Given the description of an element on the screen output the (x, y) to click on. 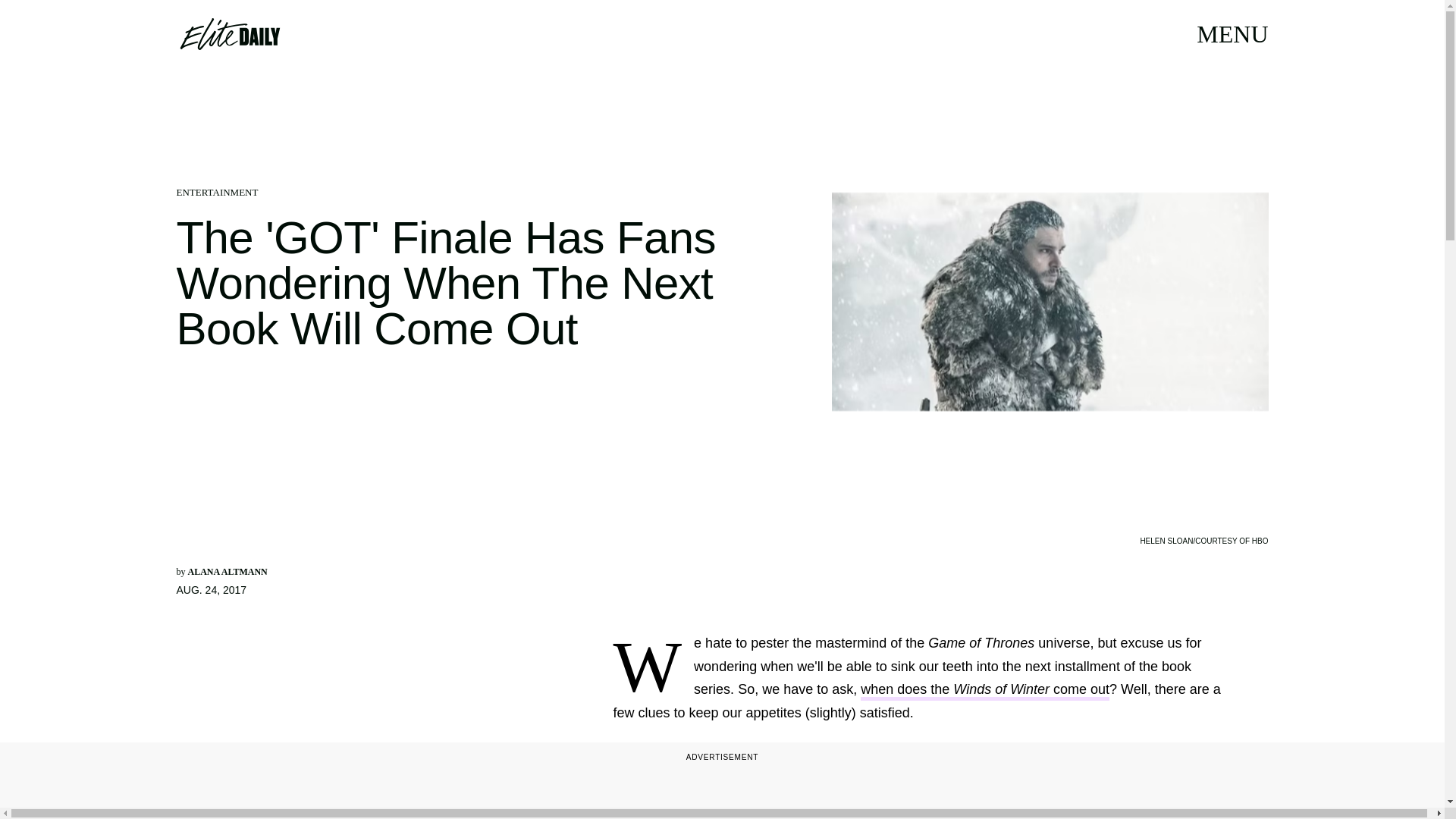
when does the (906, 691)
Elite Daily (229, 33)
come out (1079, 691)
Winds of Winter (1001, 691)
ALANA ALTMANN (227, 571)
